Given the description of an element on the screen output the (x, y) to click on. 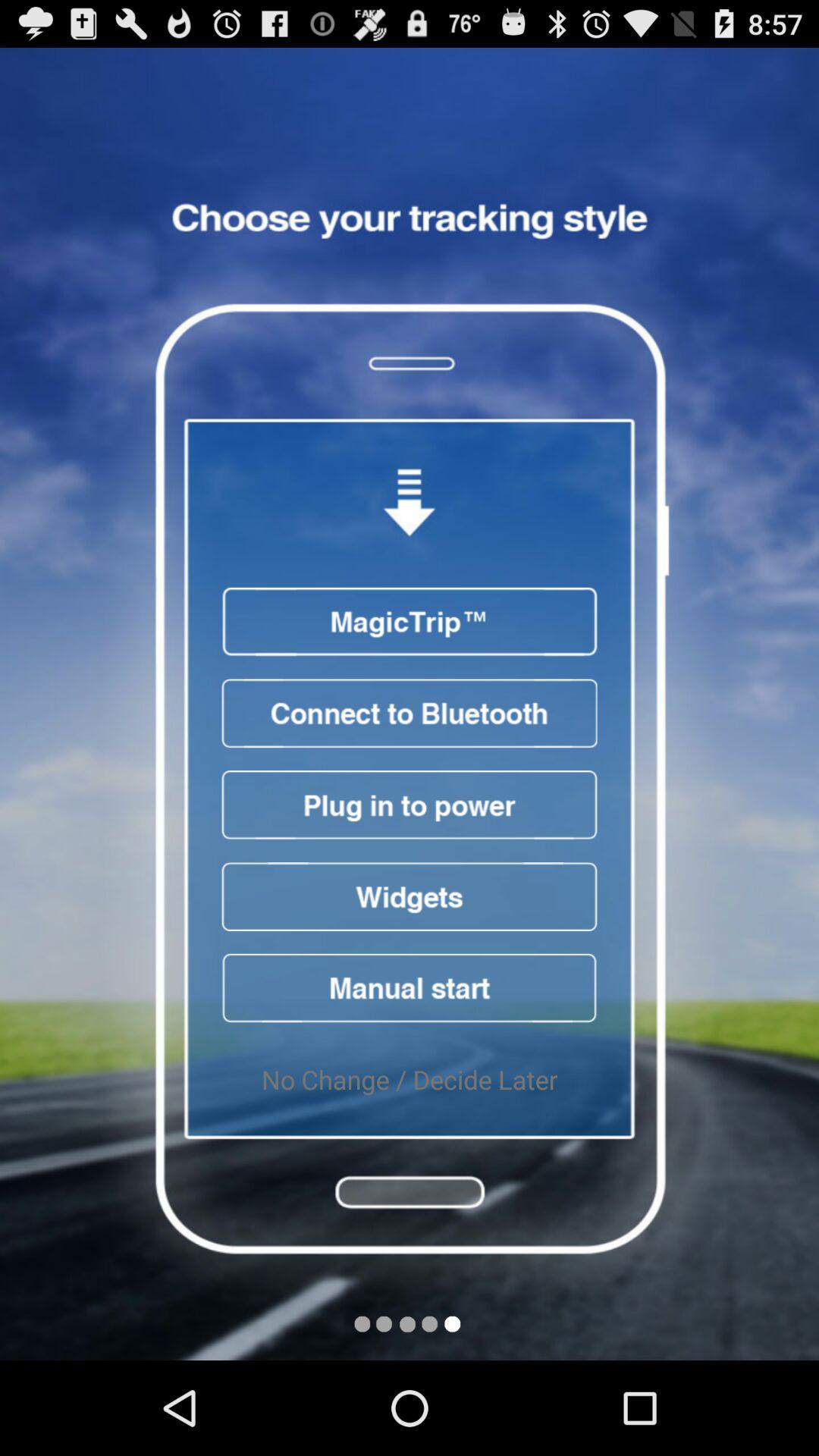
plug in to power (409, 804)
